Given the description of an element on the screen output the (x, y) to click on. 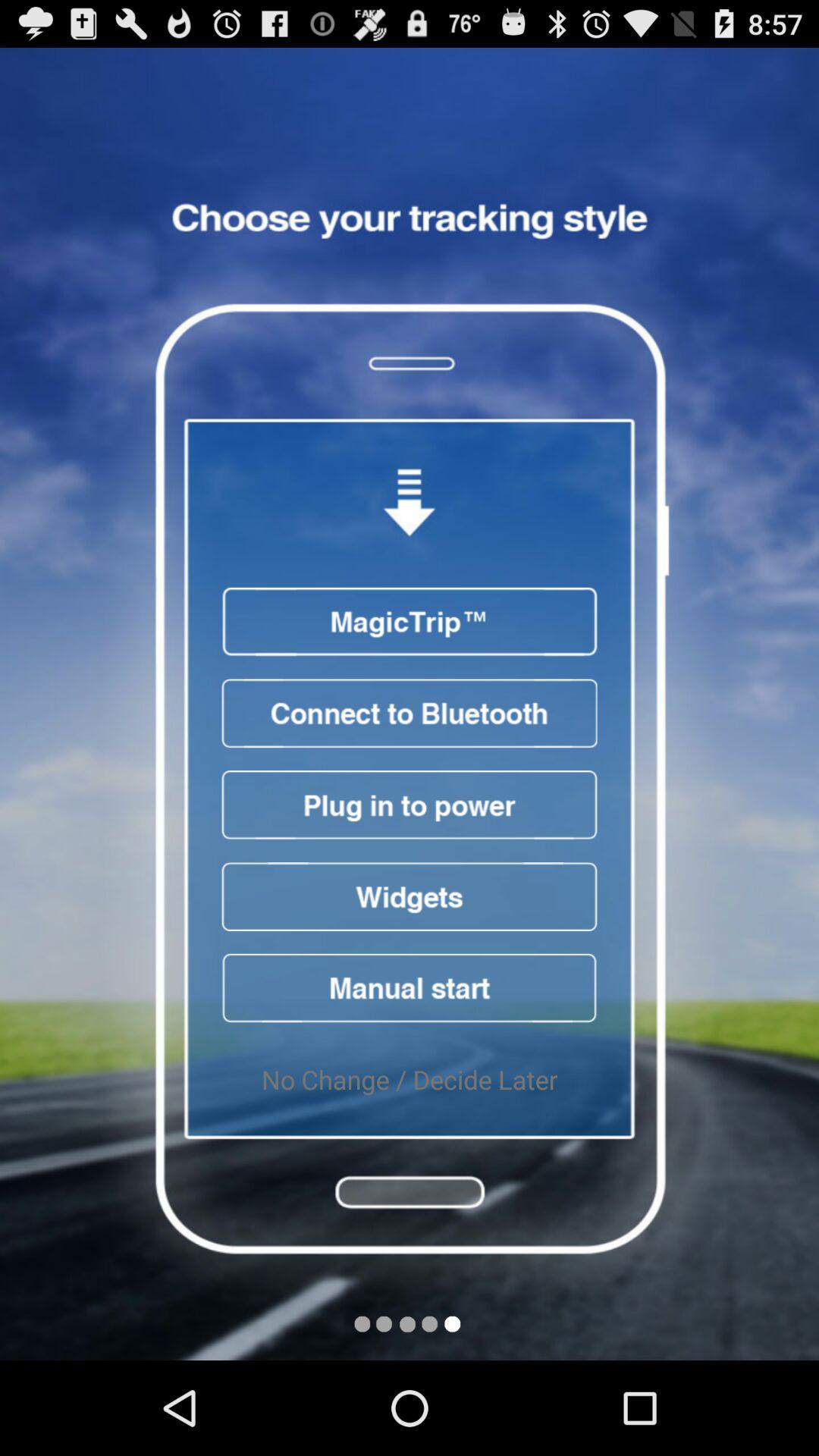
plug in to power (409, 804)
